Given the description of an element on the screen output the (x, y) to click on. 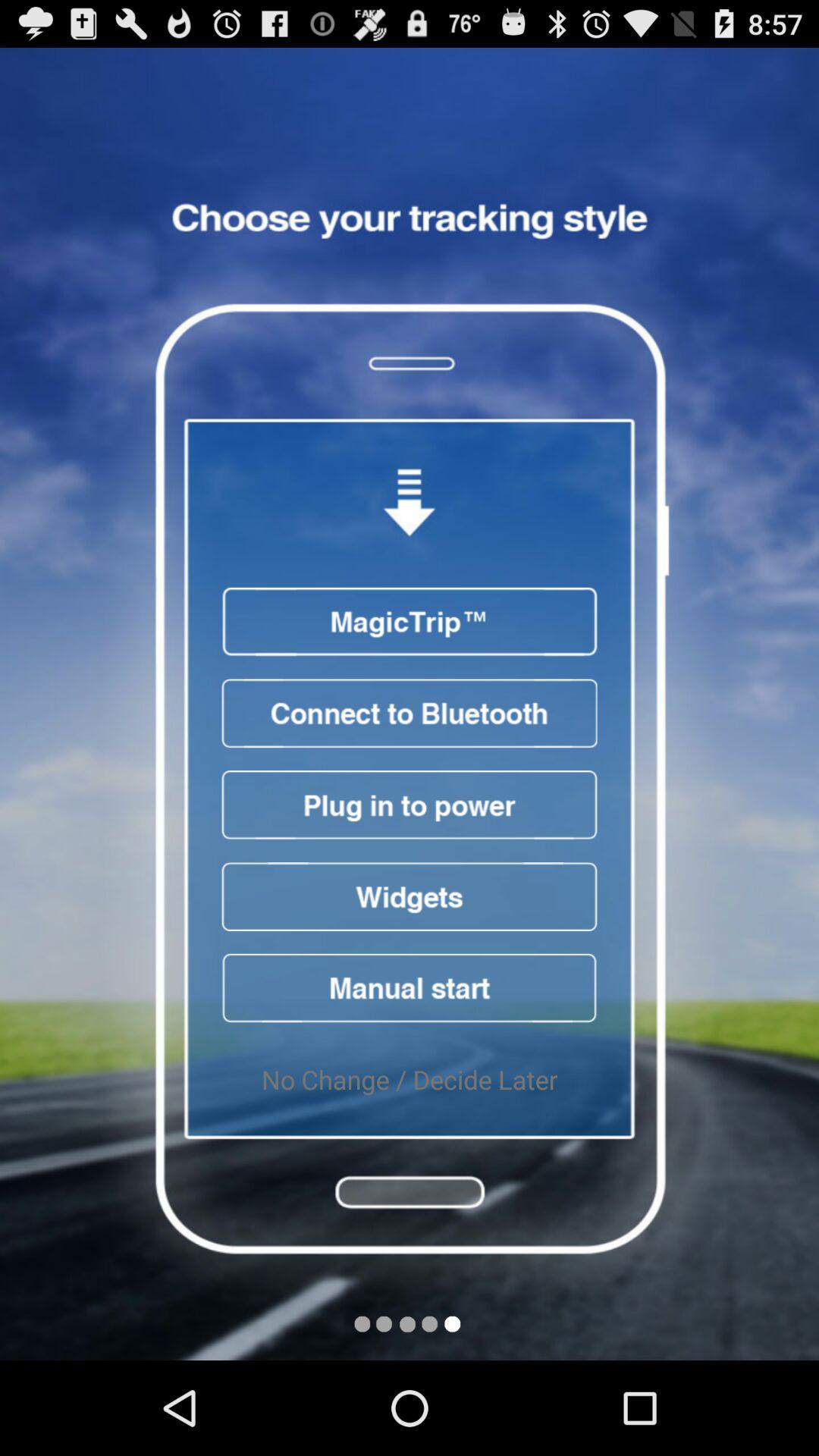
plug in to power (409, 804)
